Given the description of an element on the screen output the (x, y) to click on. 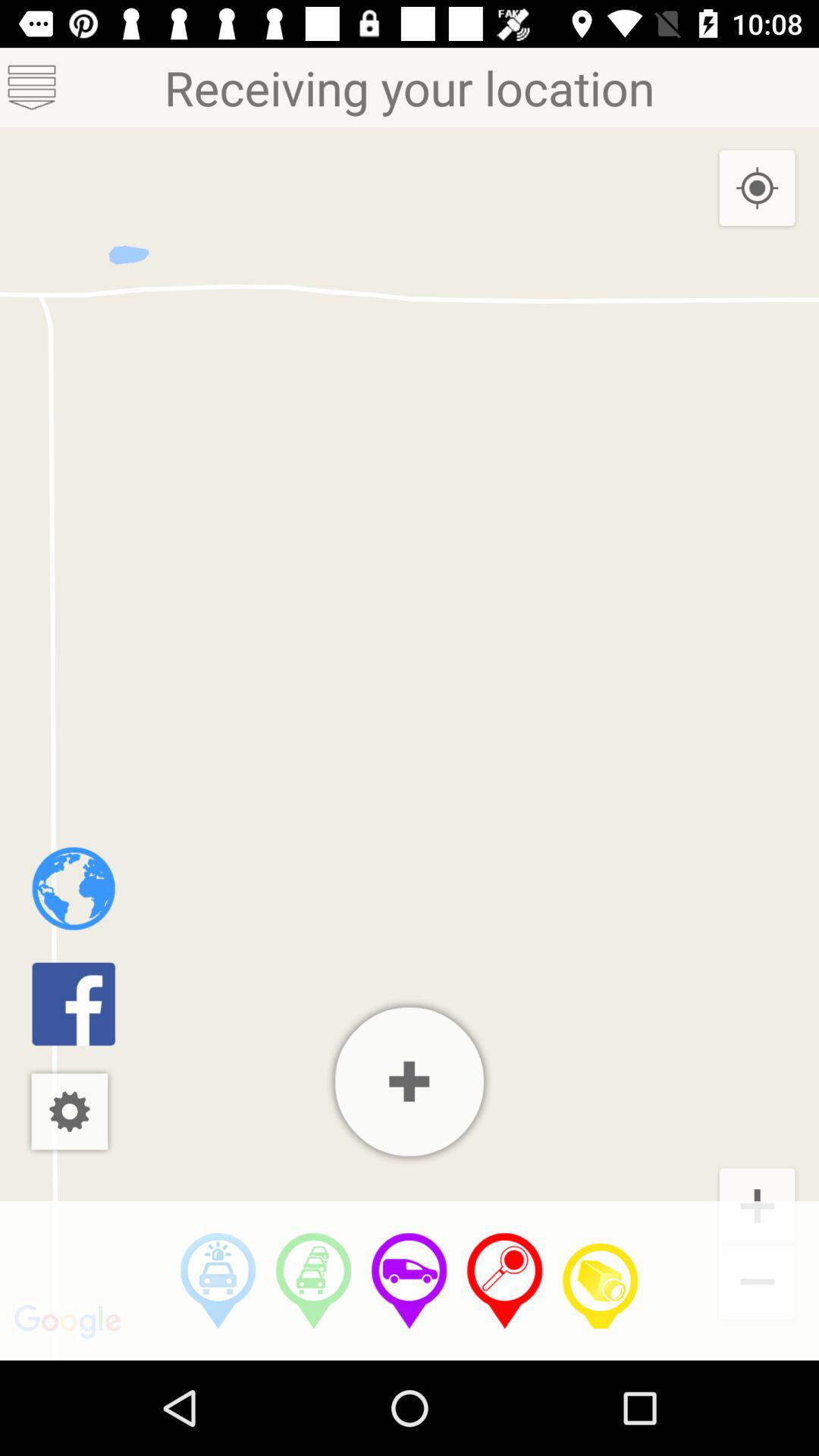
add new location (409, 1081)
